Given the description of an element on the screen output the (x, y) to click on. 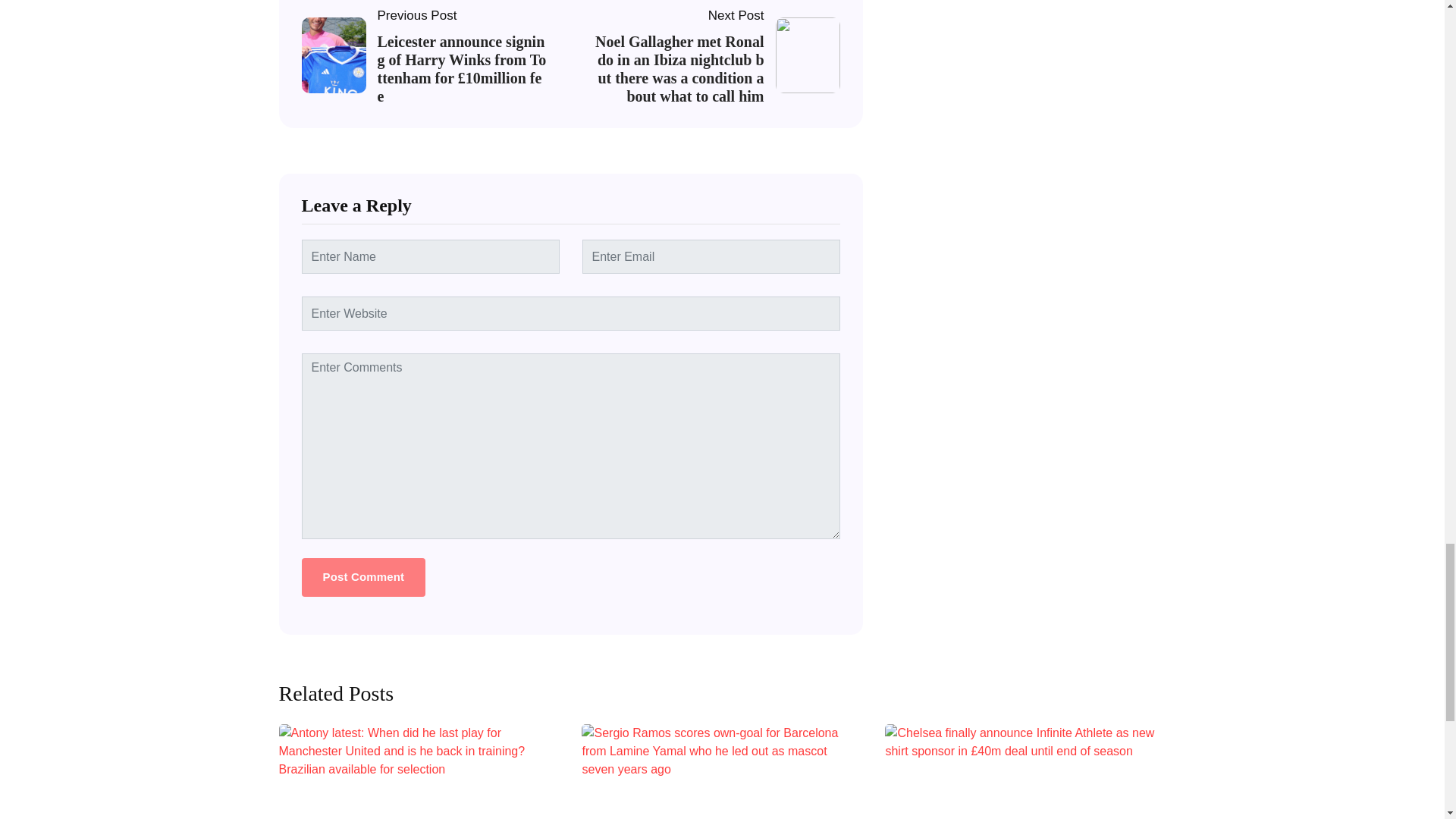
Post Comment (363, 577)
Post Comment (363, 577)
